Given the description of an element on the screen output the (x, y) to click on. 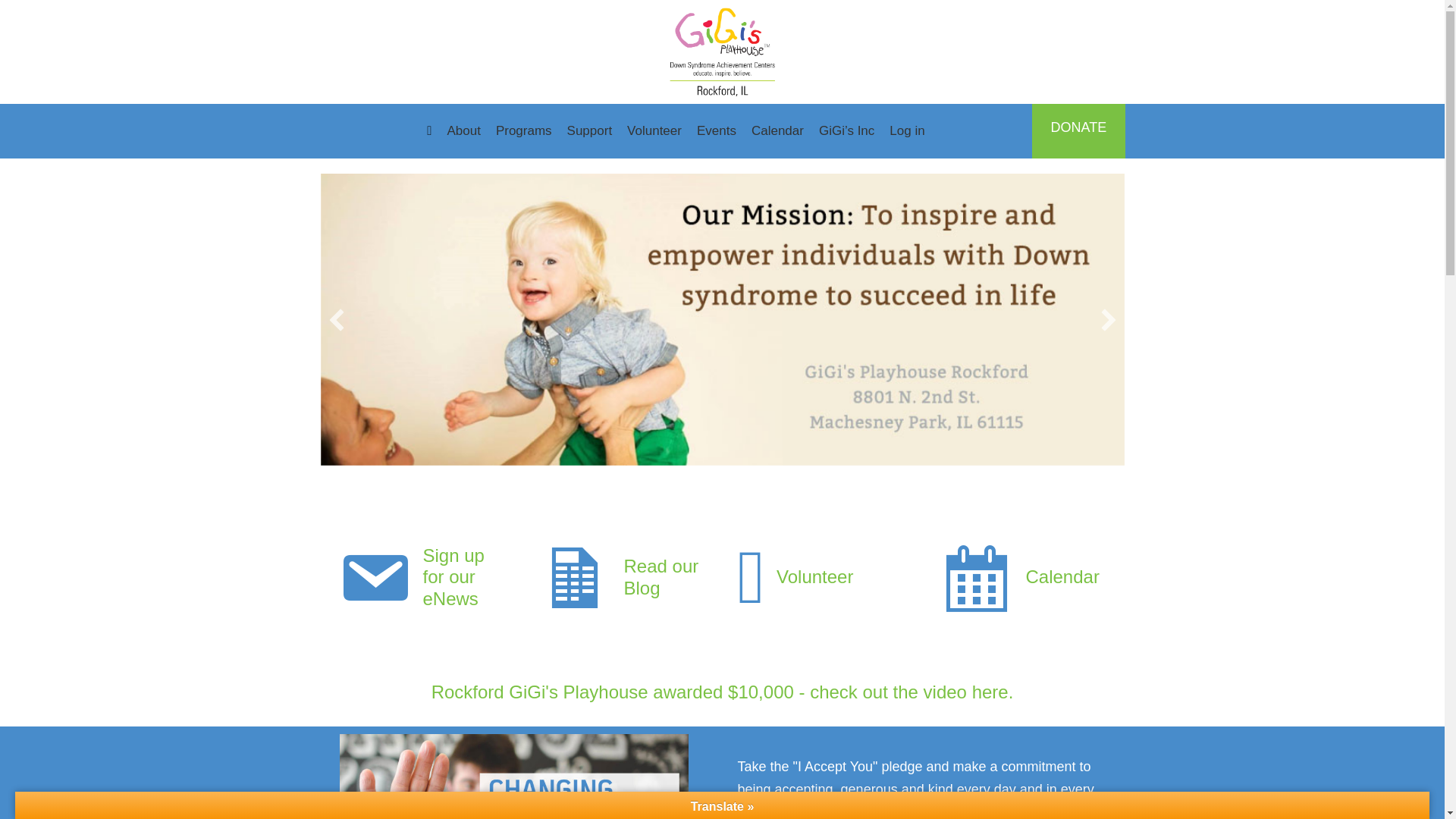
About (463, 130)
Programs (523, 130)
Volunteer (654, 130)
Events (716, 130)
Support (589, 130)
Changing-the-World-GenG (513, 776)
GiGi-location---Rockford (722, 51)
